Given the description of an element on the screen output the (x, y) to click on. 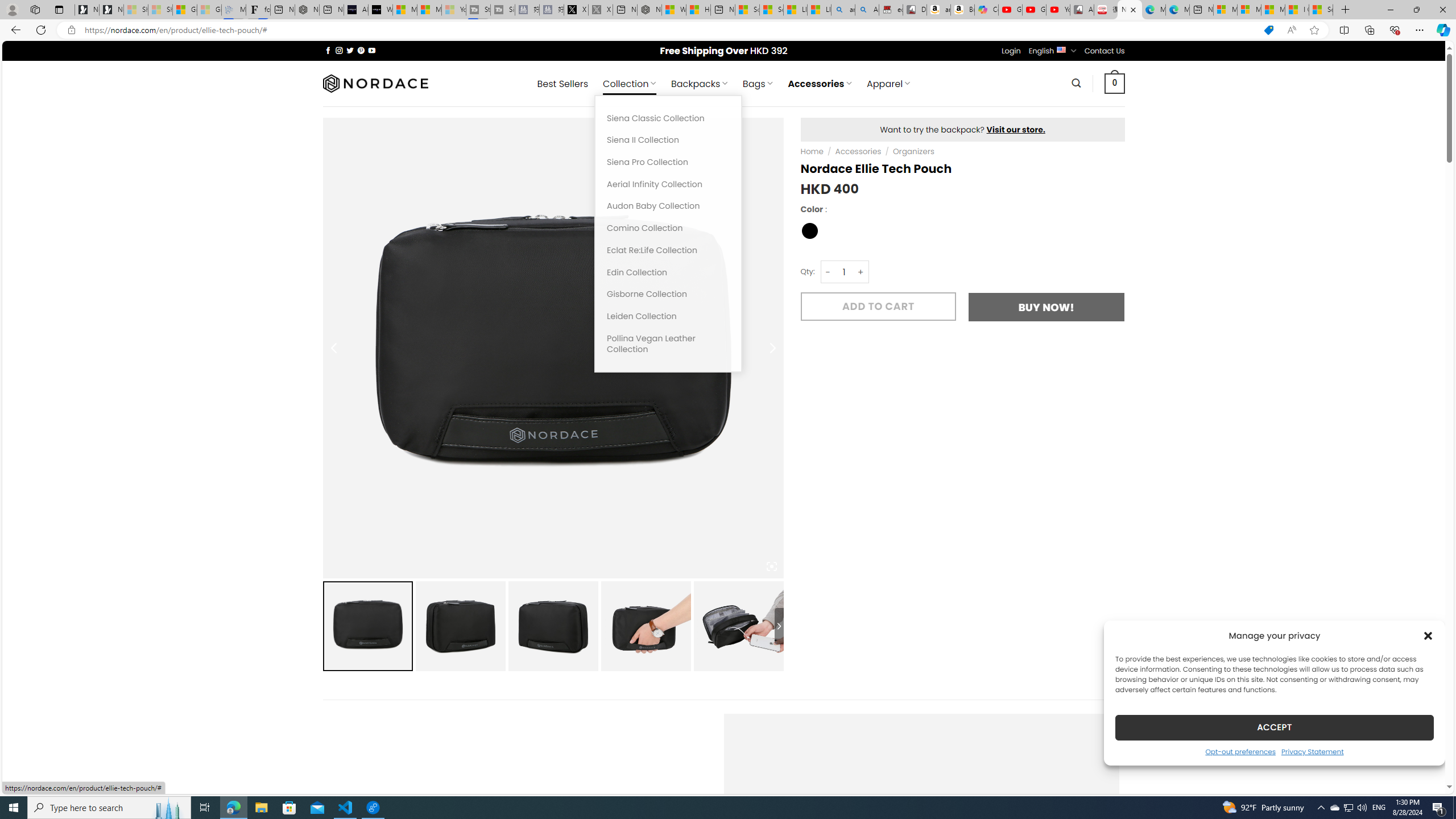
Refresh (40, 29)
Restore (1416, 9)
App bar (728, 29)
Close tab (1133, 9)
Edin Collection (668, 272)
ACCEPT (1274, 727)
Siena Classic Collection (668, 118)
Minimize (1390, 9)
Gloom - YouTube (1034, 9)
Split screen (1344, 29)
Newsletter Sign Up (111, 9)
Login (1010, 50)
+ (861, 272)
